Given the description of an element on the screen output the (x, y) to click on. 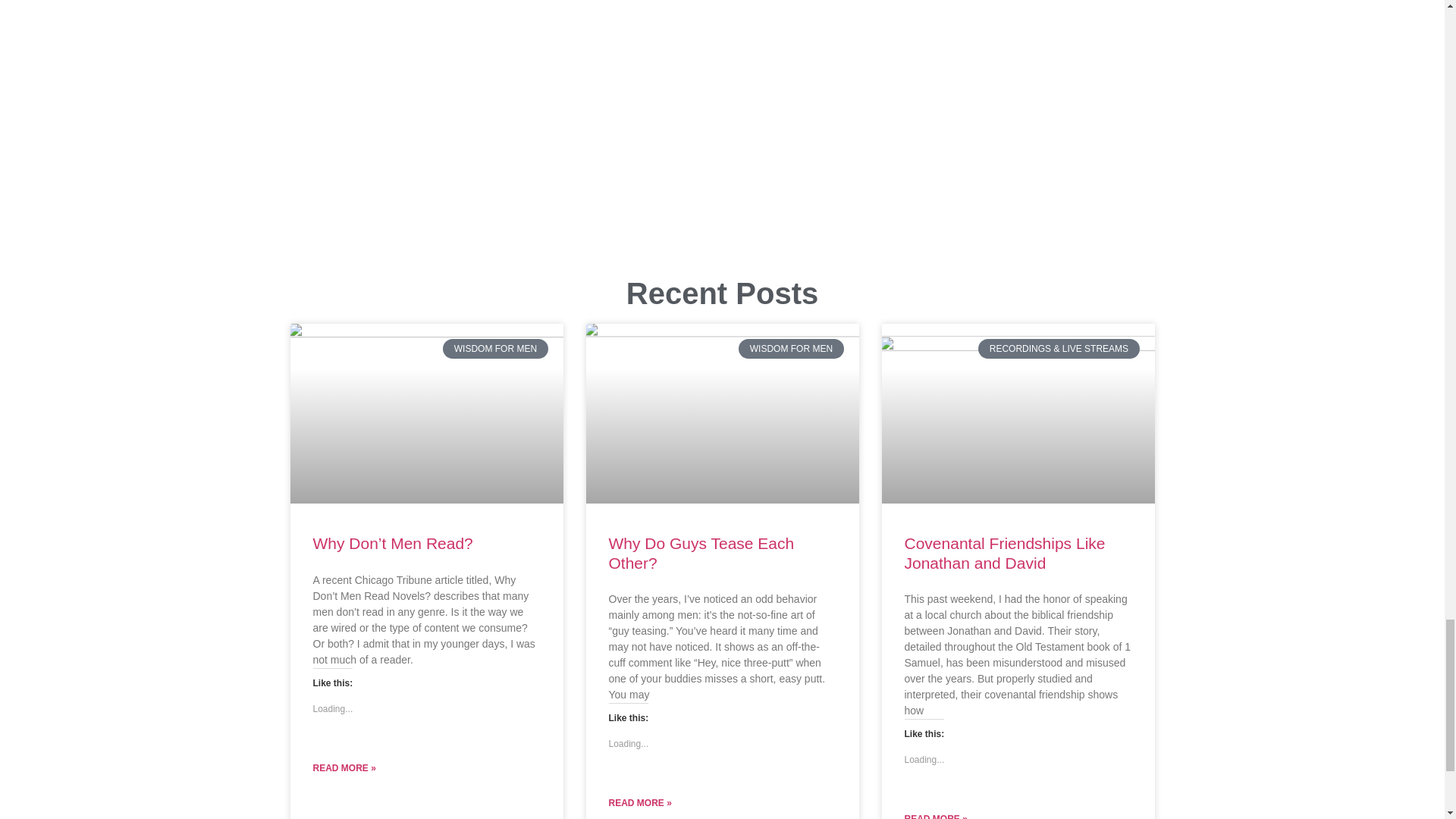
Why Do Guys Tease Each Other? (700, 552)
Covenantal Friendships Like Jonathan and David (1004, 552)
